Given the description of an element on the screen output the (x, y) to click on. 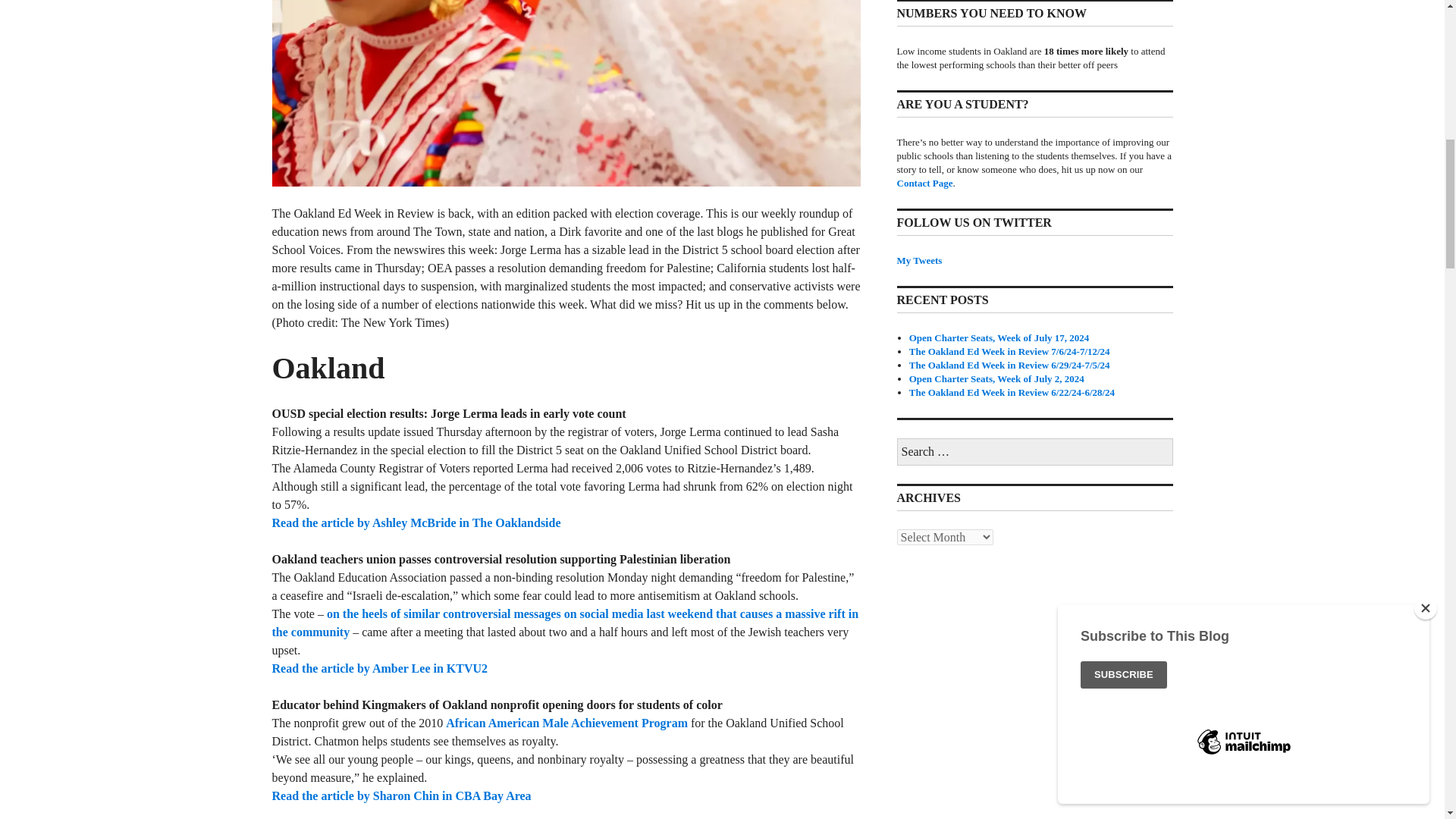
Read the article by Amber Lee in KTVU2 (378, 667)
Read the article by Ashley McBride in The Oaklandside (415, 522)
Read the article by Sharon Chin in CBA Bay Area (400, 795)
African American Male Achievement Program (566, 722)
